Given the description of an element on the screen output the (x, y) to click on. 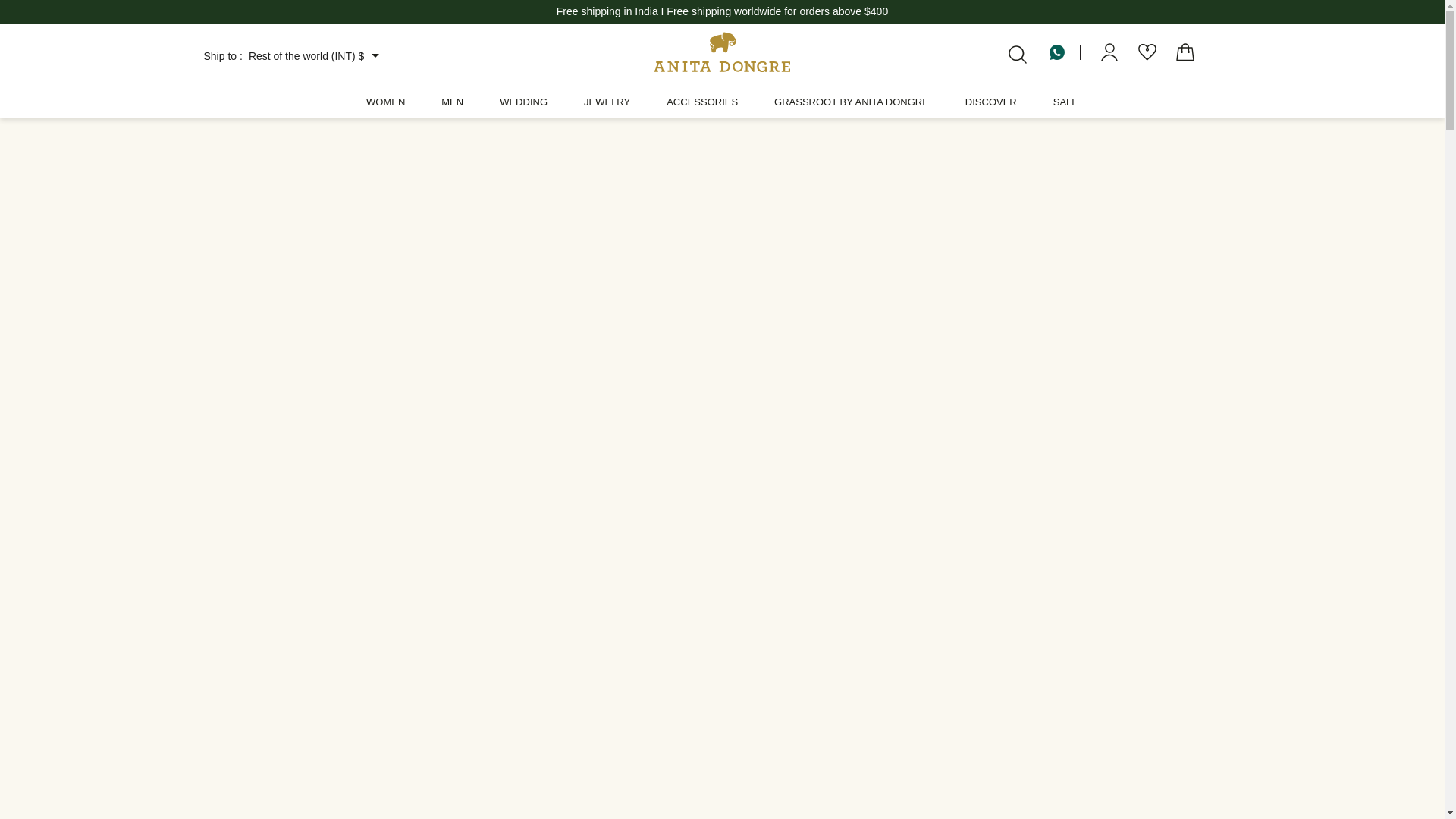
Login to your account (1109, 52)
Shopping cart, no items in your cart. (1184, 52)
Anita Dongre Home (721, 51)
View your wishlist (1147, 52)
Search (1017, 52)
